Given the description of an element on the screen output the (x, y) to click on. 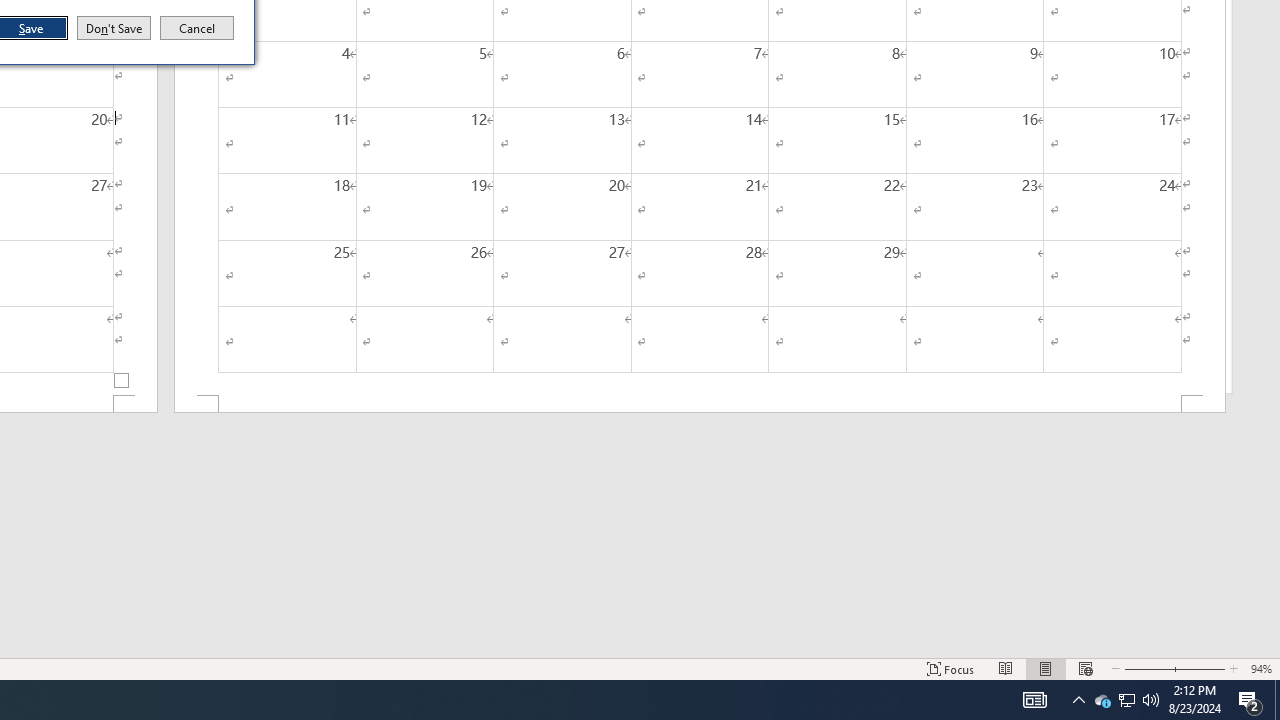
Don't Save (113, 27)
Footer -Section 2- (700, 404)
